Given the description of an element on the screen output the (x, y) to click on. 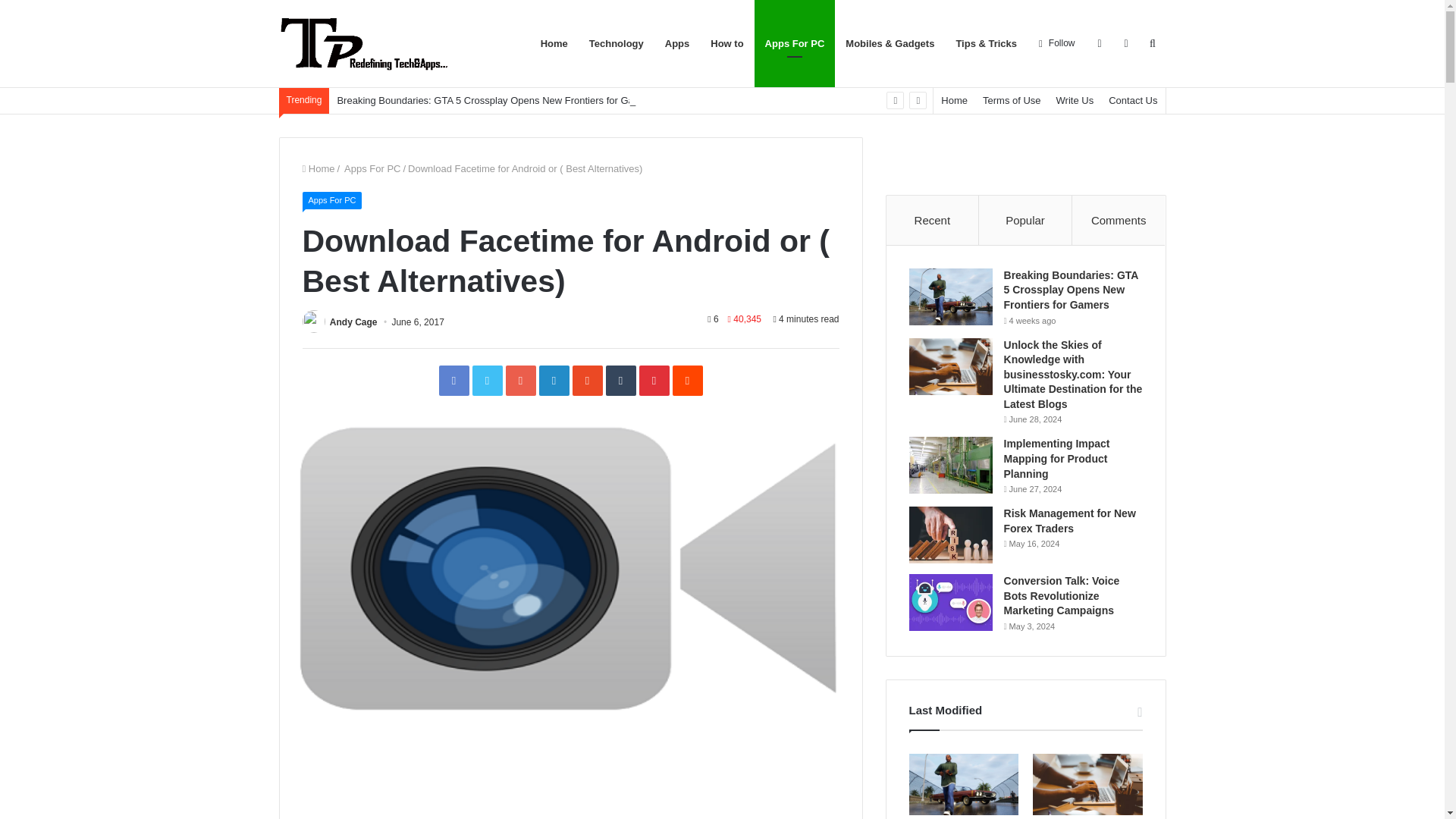
Tumblr (619, 380)
Apps For PC (794, 43)
Apps For PC (331, 200)
Facebook (453, 380)
Home (954, 99)
LinkedIn (553, 380)
6 (712, 318)
Apps For PC (371, 168)
Terms of Use (1011, 99)
Andy Cage (353, 321)
